Given the description of an element on the screen output the (x, y) to click on. 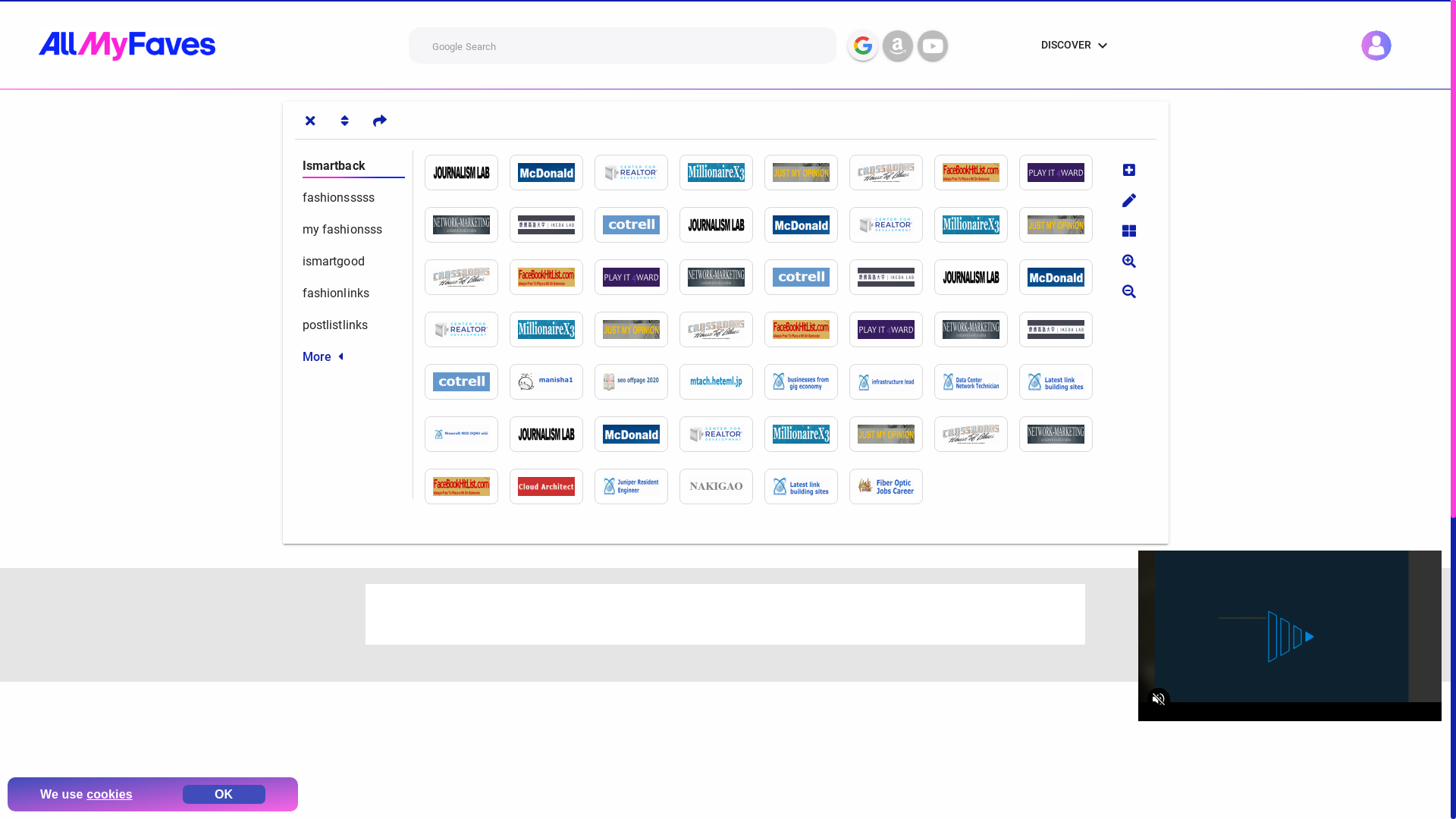
http://crossroadshob.ning.com/profiles/blogs/dresses Element type: hover (976, 433)
http://thehiphophub.ning.com/profiles/blogs/dresses Element type: hover (891, 433)
http://timeflow.webcrow.jp/pukiwiki/index.php?heels Element type: hover (891, 381)
http://crossroadshob.ning.com/profiles/blogs/stylee-fashions Element type: hover (466, 276)
http://facebookhitlist.com/profiles/blogs/stylee-fashions Element type: hover (551, 276)
Share tab link Element type: hover (379, 119)
https://ikeda-lab.sfc.keio.ac.jp/3DSS/index.php?fashions Element type: hover (551, 224)
Show/Hide tabs Element type: hover (309, 119)
http://fortune.daa.jp/hosigamitaiju/index.php?dresses Element type: hover (806, 486)
http://network-marketing.ning.com/profiles/blogs/dresses Element type: hover (1061, 433)
http://fortune.daa.jp/hosigamitaiju/index.php?heels Element type: hover (1061, 381)
http://millionairex3.ning.com/profiles/blogs/dresses Element type: hover (806, 433)
http://dokonoko.pinoko.jp/aarus_awakening/index.php?dresses Element type: hover (891, 486)
http://millionairex3.ning.com/profiles/blogs/heels Element type: hover (551, 329)
Zoom in Element type: hover (1128, 260)
http://sfchsjournalism.ning.com/profiles/blogs/heels Element type: hover (976, 276)
http://mcdonaldauto.ning.com/profiles/blogs/stylee-fashions Element type: hover (806, 224)
http://network-marketing.ning.com/profiles/blogs/heels Element type: hover (976, 329)
Advertisement Element type: hover (725, 613)
Enter your query and then select the search engine Element type: hover (622, 45)
Zoom Out Element type: hover (1128, 291)
http://millionairex3.ning.com/profiles/blogs/stylee-fashions Element type: hover (976, 224)
http://recampus.ning.com/profiles/blogs/heels Element type: hover (466, 329)
Click to see more tools Element type: hover (1319, 45)
http://sfchsjournalism.ning.com/profiles/blogs/dresses Element type: hover (551, 433)
http://playit4ward-sanantonio.ning.com/profiles/blogs/heels Element type: hover (891, 329)
DISCOVER
keyboard_arrow_down Element type: text (1076, 45)
http://x.skr.jp/wiki/index.php?heels Element type: hover (976, 381)
http://recampus.ning.com/profiles/blogs/stylee-fashions Element type: hover (891, 224)
http://facebookhitlist.com/profiles/blogs/dresses Element type: hover (466, 486)
http://ee72078.moo.jp/chinsan/pc/Lab/index.php?heels Element type: hover (551, 381)
Add new site Element type: hover (1128, 169)
http://crossroadshob.ning.com/profiles/blogs/heels Element type: hover (721, 329)
Change sites layout Element type: hover (1128, 230)
Amazon Search Element type: hover (897, 45)
https://ikeda-lab.sfc.keio.ac.jp/3DSS/index.php?heels Element type: hover (1061, 329)
http://nakigao.sitemix.jp/nakiwiki/?dresses Element type: hover (721, 486)
Youtube Search Element type: hover (932, 45)
Edit site Element type: hover (1128, 200)
http://facebookhitlist.com/profiles/blogs/heels Element type: hover (806, 329)
http://larc.zombie.jp/StW/wiki/index.php?dresses Element type: hover (551, 486)
http://mtach.heteml.jp/mt_ura/index.php?heels Element type: hover (721, 381)
https://ikeda-lab.sfc.keio.ac.jp/3DSS/index.php?mystyles Element type: hover (891, 276)
http://thehiphophub.ning.com/profiles/blogs/stylee-fashions Element type: hover (1061, 224)
http://thehiphophub.ning.com/profiles/blogs/heels Element type: hover (636, 329)
http://players-club.sub.jp/index.php?heels Element type: hover (806, 381)
http://tokiminori.under.jp/miyagi_anison/index.php?dresses Element type: hover (636, 486)
http://mcdonaldauto.ning.com/profiles/blogs/dresses Element type: hover (636, 433)
http://mc-dqm4.xii.jp/index.php?heels Element type: hover (466, 433)
Google Search Element type: hover (862, 45)
Sort tabs Element type: hover (344, 119)
http://mcdonaldauto.ning.com/profiles/blogs/heels Element type: hover (1061, 276)
http://recampus.ning.com/profiles/blogs/dresses Element type: hover (721, 433)
cookies Element type: text (109, 793)
